Given the description of an element on the screen output the (x, y) to click on. 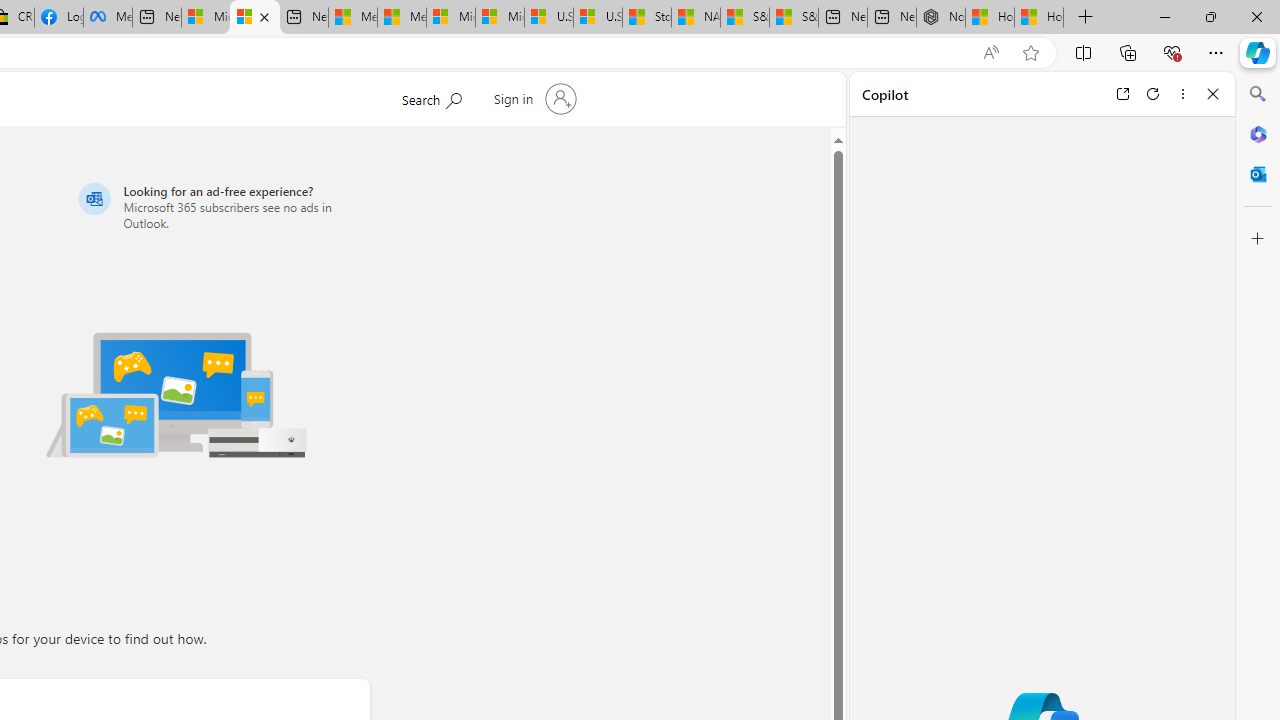
Microsoft 365 (1258, 133)
